Given the description of an element on the screen output the (x, y) to click on. 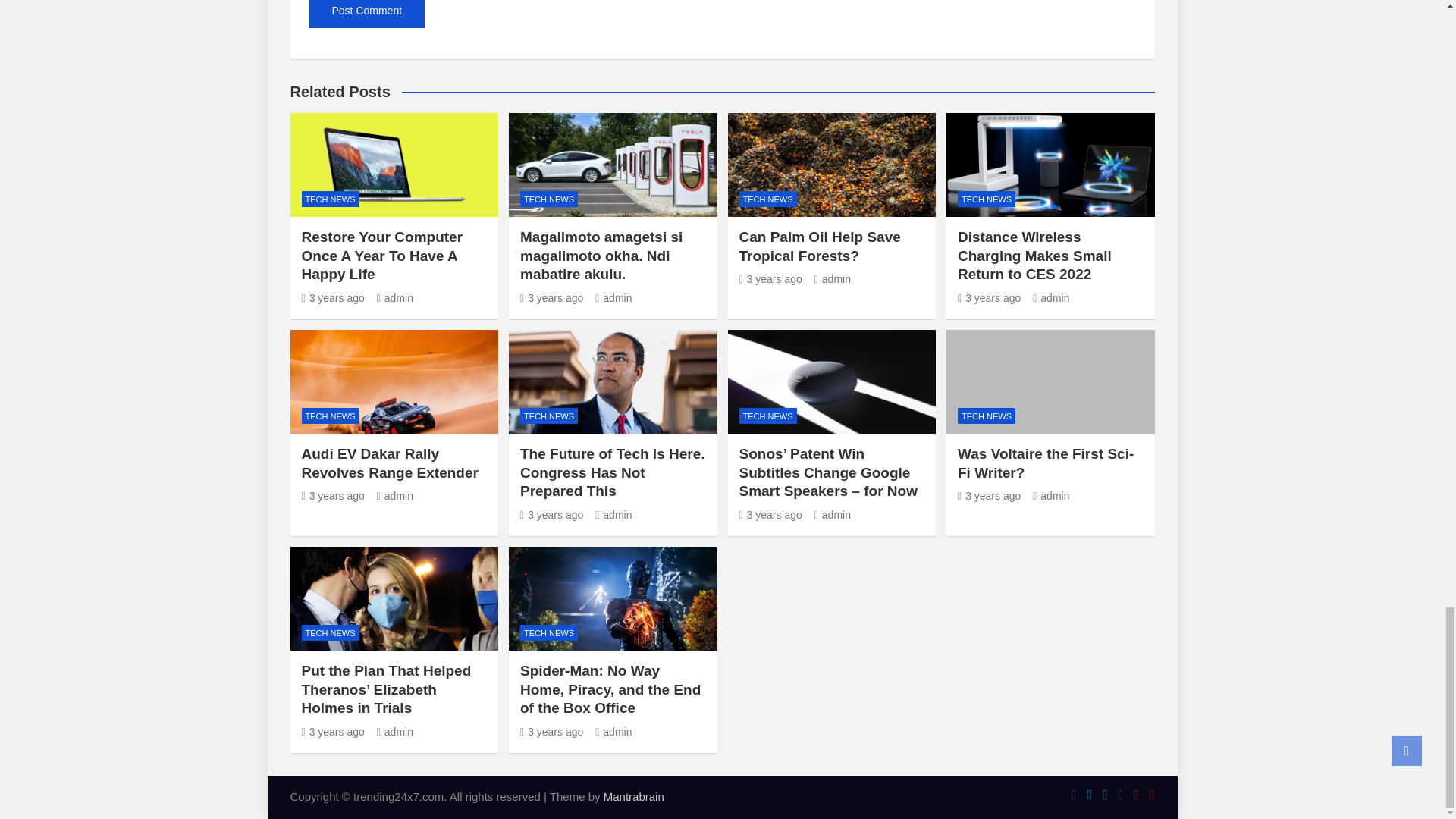
Distance Wireless Charging Makes Small Return to CES 2022 (989, 297)
Was Voltaire the First Sci-Fi Writer? (989, 495)
Post Comment (366, 13)
The Future of Tech Is Here.  Congress Has Not Prepared This (551, 514)
Magalimoto amagetsi si magalimoto okha.  Ndi mabatire akulu. (551, 297)
Mantrabrain (633, 796)
Post Comment (366, 13)
Audi EV Dakar Rally Revolves Range Extender (333, 495)
Restore Your Computer Once A Year To Have A Happy Life (333, 297)
TECH NEWS (330, 198)
Can Palm Oil Help Save Tropical Forests? (770, 278)
